Given the description of an element on the screen output the (x, y) to click on. 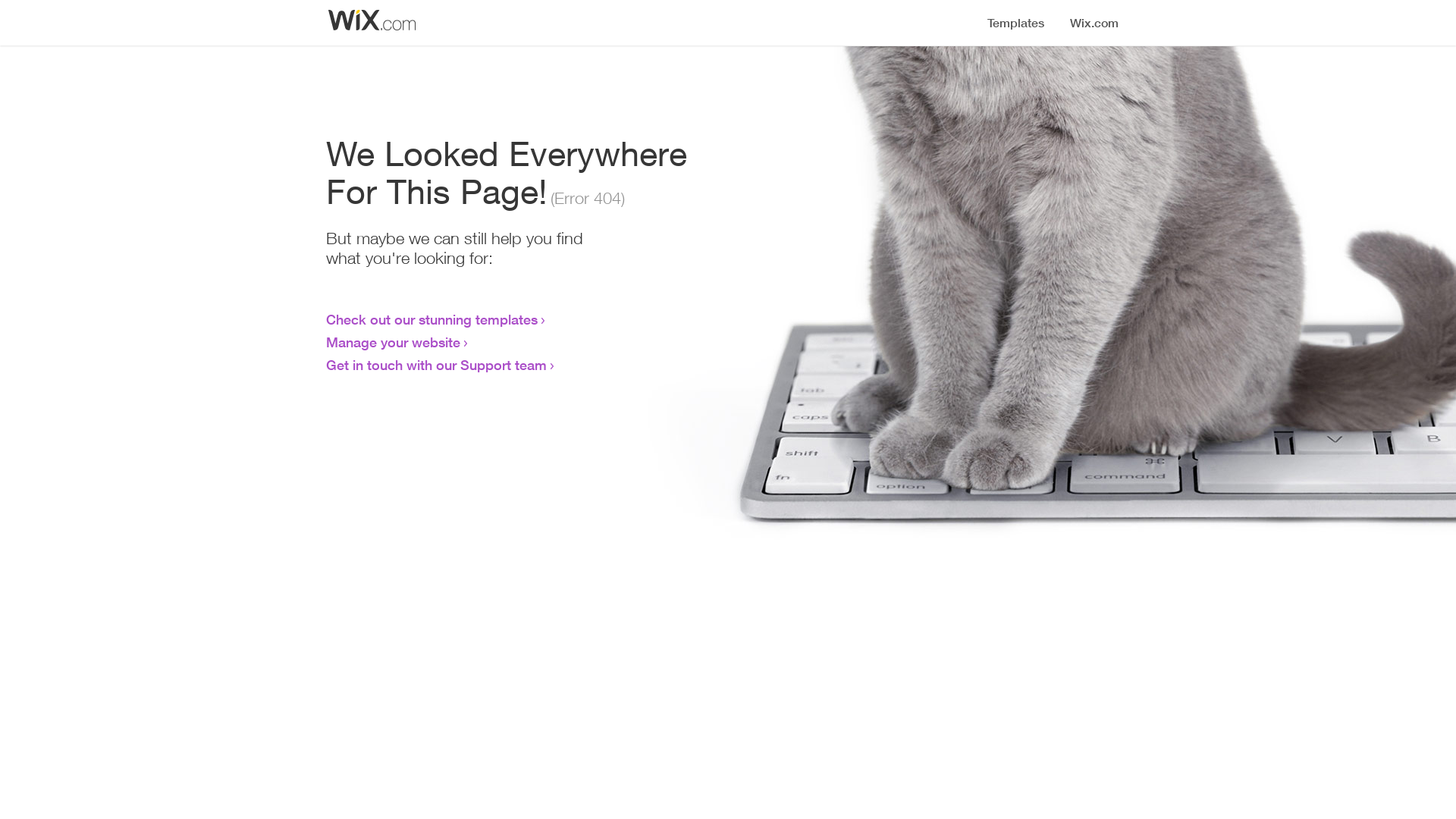
Get in touch with our Support team Element type: text (436, 364)
Manage your website Element type: text (393, 341)
Check out our stunning templates Element type: text (431, 318)
